Given the description of an element on the screen output the (x, y) to click on. 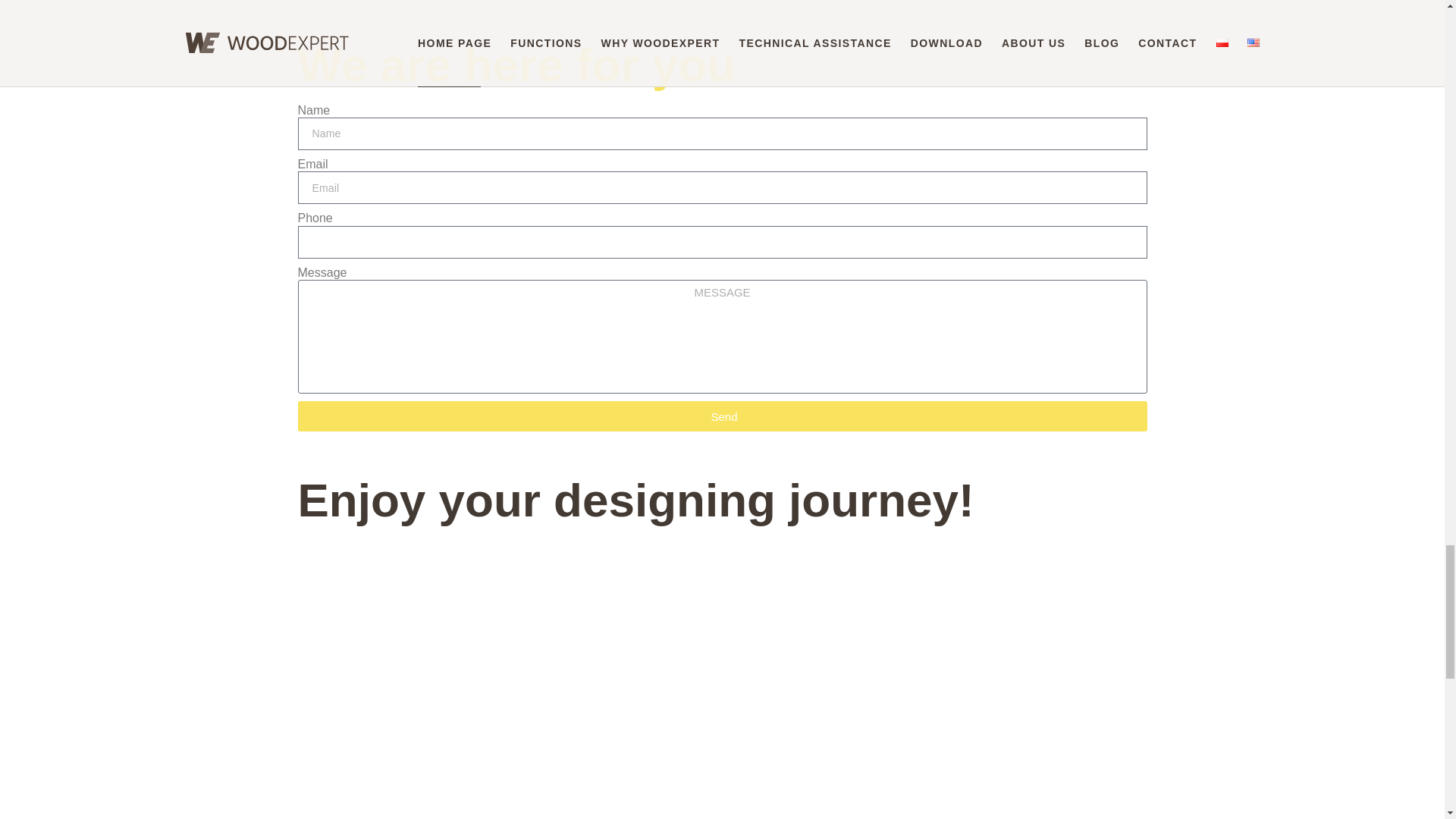
Send (722, 416)
